Given the description of an element on the screen output the (x, y) to click on. 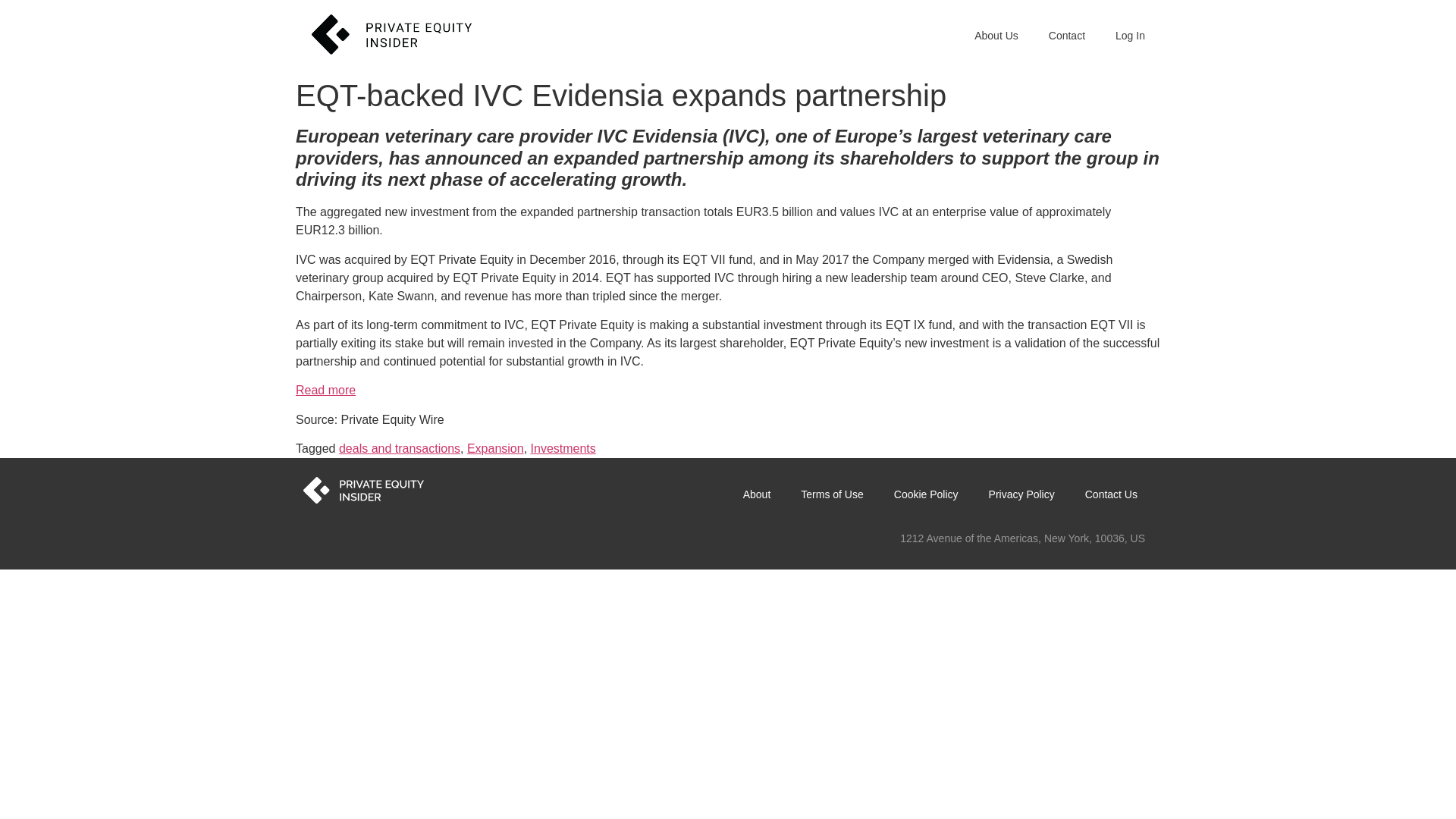
Terms of Use (831, 493)
Contact Us (1111, 493)
Privacy Policy (1022, 493)
Contact (1066, 35)
Investments (563, 448)
Log In (1130, 35)
deals and transactions (399, 448)
About Us (996, 35)
Expansion (495, 448)
About (757, 493)
Read more (325, 390)
Cookie Policy (926, 493)
